Given the description of an element on the screen output the (x, y) to click on. 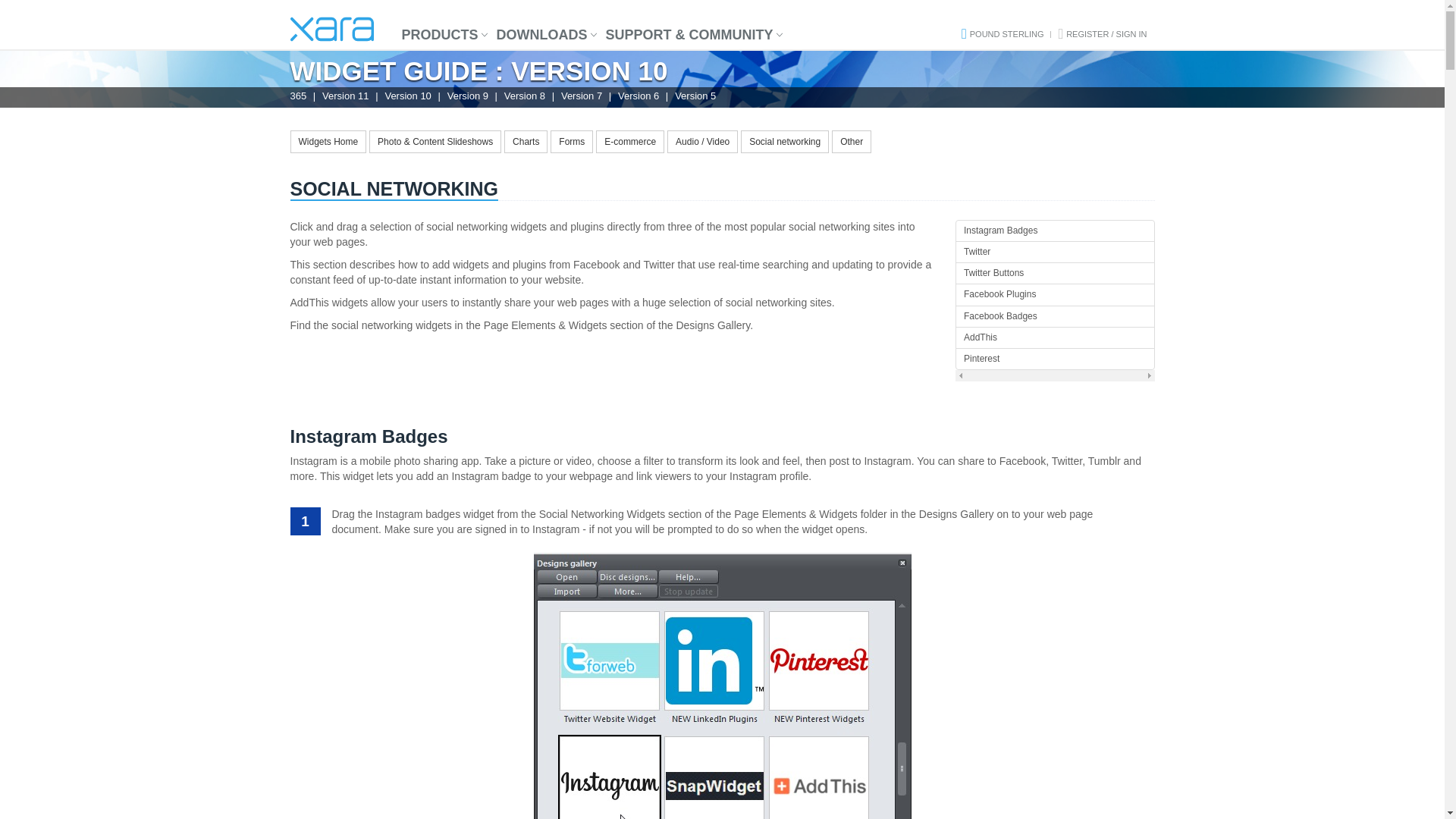
Xara  (330, 28)
PRODUCTS (440, 35)
DOWNLOADS (541, 35)
POUND STERLING (1006, 33)
